Given the description of an element on the screen output the (x, y) to click on. 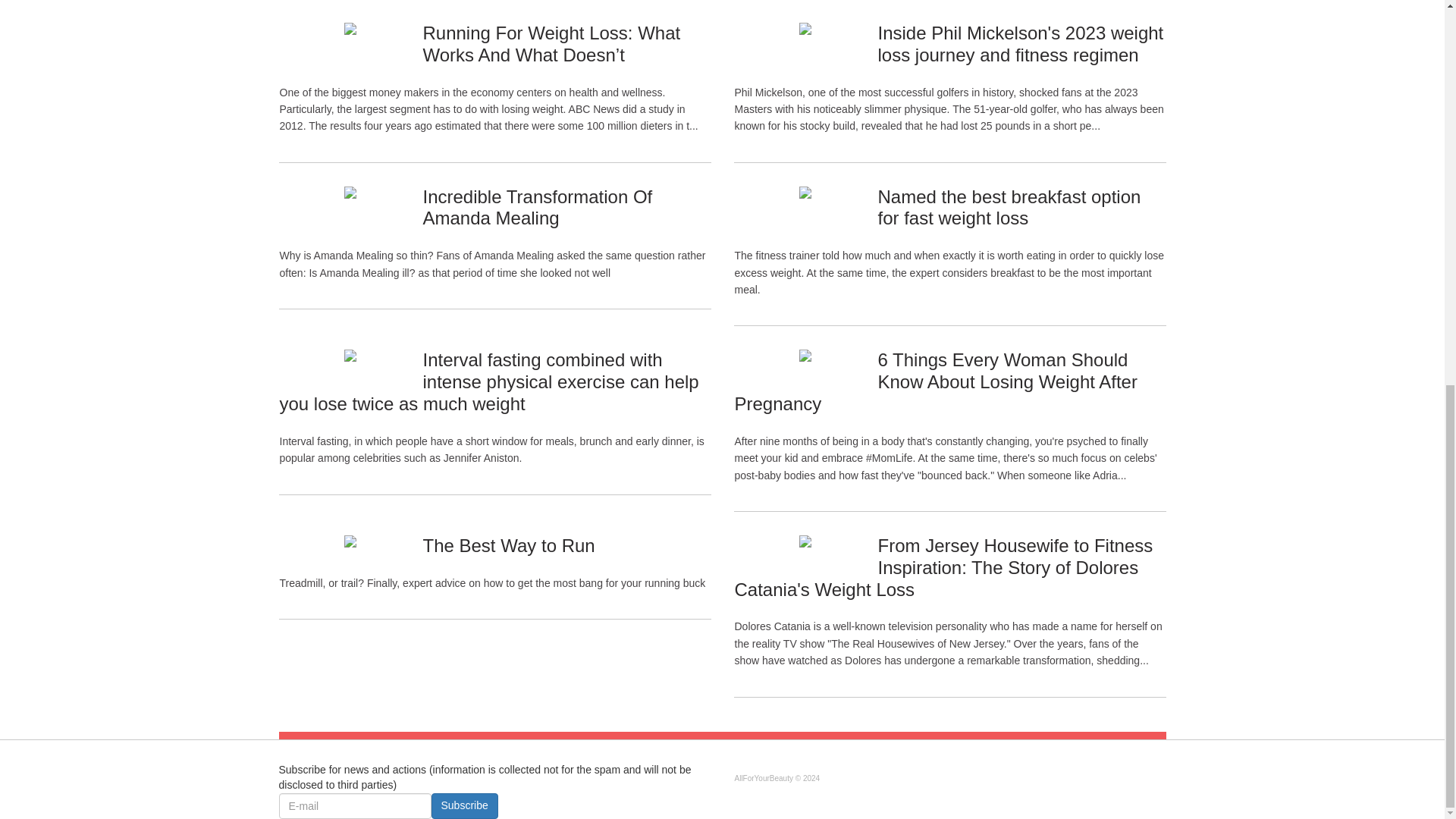
Named the best breakfast option for fast weight loss (1008, 207)
Incredible Transformation Of Amanda Mealing (537, 207)
The Best Way to Run (508, 545)
